Given the description of an element on the screen output the (x, y) to click on. 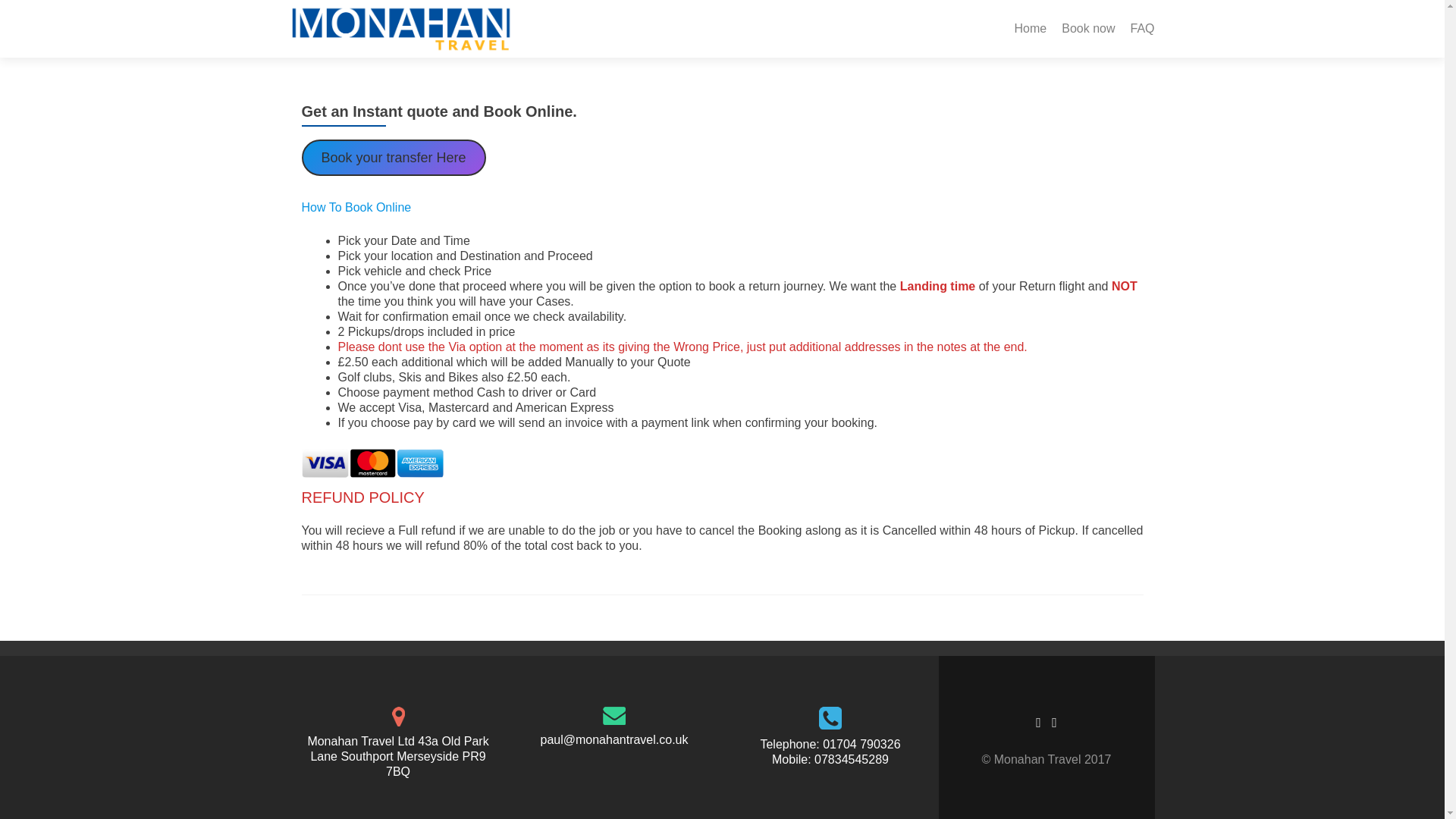
Book now (1088, 28)
Book your transfer Here (393, 157)
Home (1030, 28)
01704 790326 (860, 744)
FAQ (1141, 28)
07834545289 (850, 758)
